Given the description of an element on the screen output the (x, y) to click on. 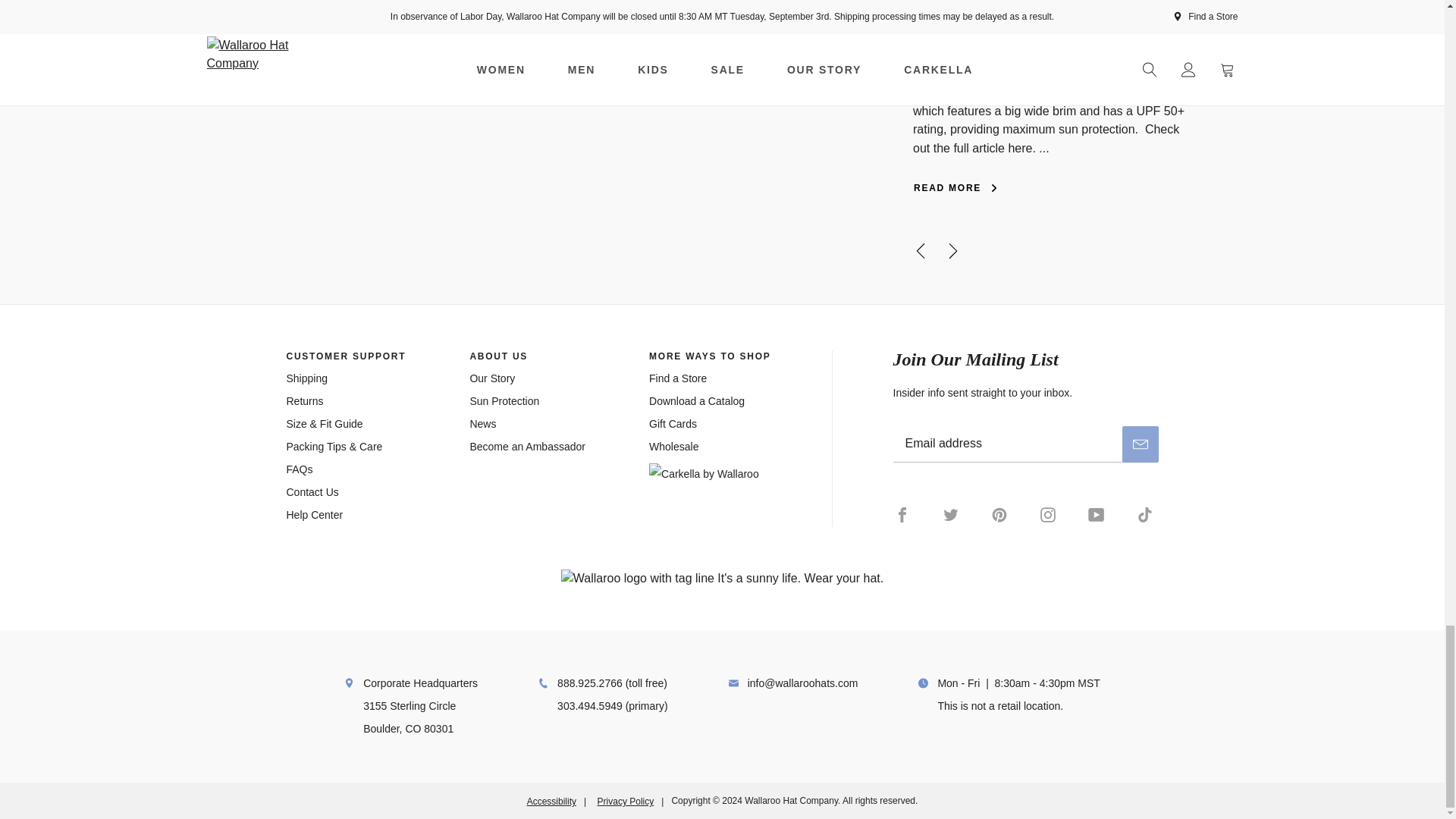
Wallaroo Hat Company on Facebook (909, 514)
Wallaroo Hat Company on Pinterest (999, 514)
Wallaroo Hat Company on YouTube (1096, 514)
Wallaroo Hat Company on Instagram (1047, 514)
Wallaroo Hat Company on TikTok (1145, 514)
Wallaroo Hat Company on Twitter (950, 514)
